Given the description of an element on the screen output the (x, y) to click on. 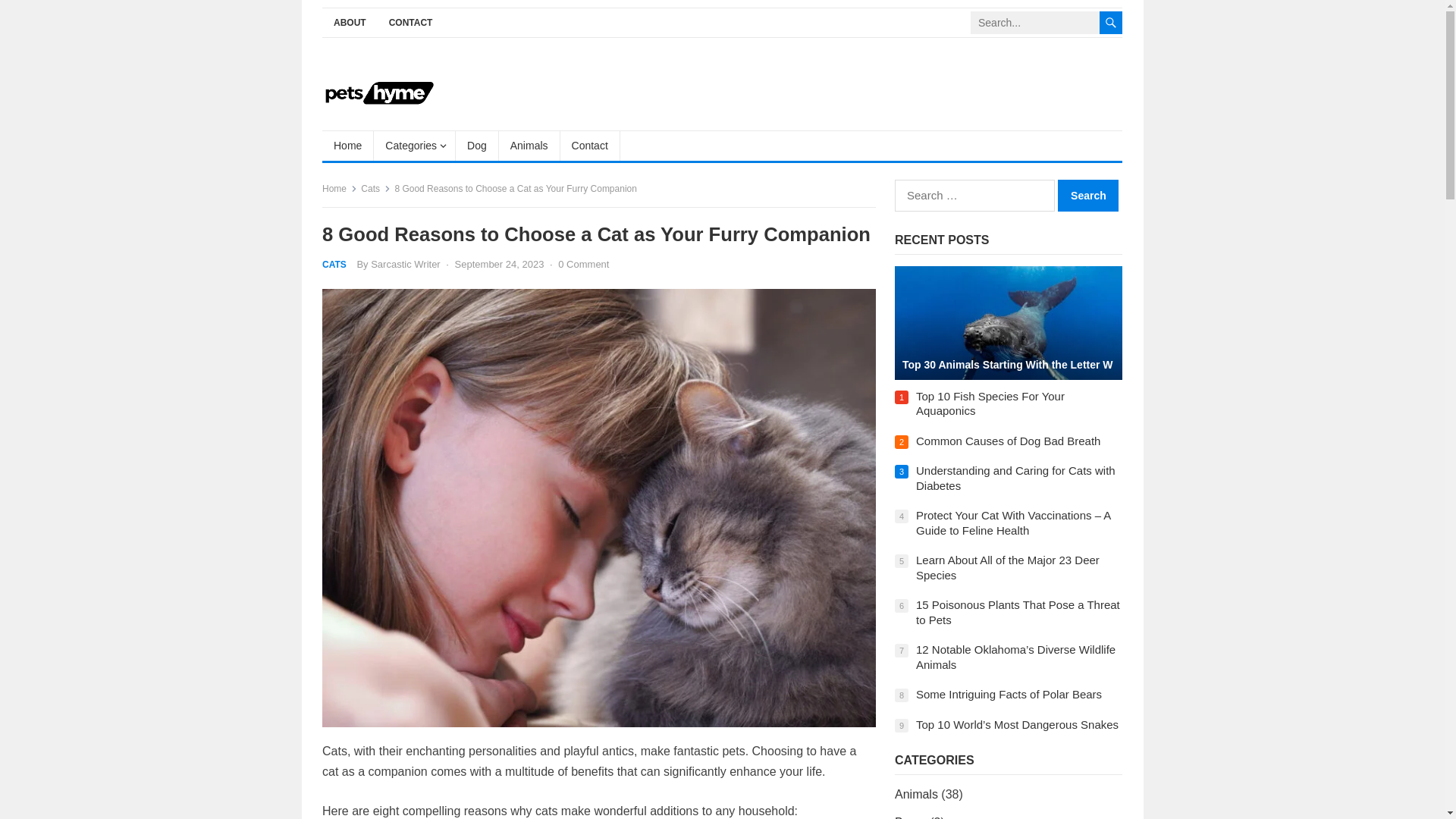
Categories (414, 145)
Posts by Sarcastic Writer (406, 264)
Animals (529, 145)
Dog (477, 145)
Home (347, 145)
CONTACT (410, 22)
Search (1088, 195)
Contact (590, 145)
Search (1088, 195)
ABOUT (349, 22)
